Given the description of an element on the screen output the (x, y) to click on. 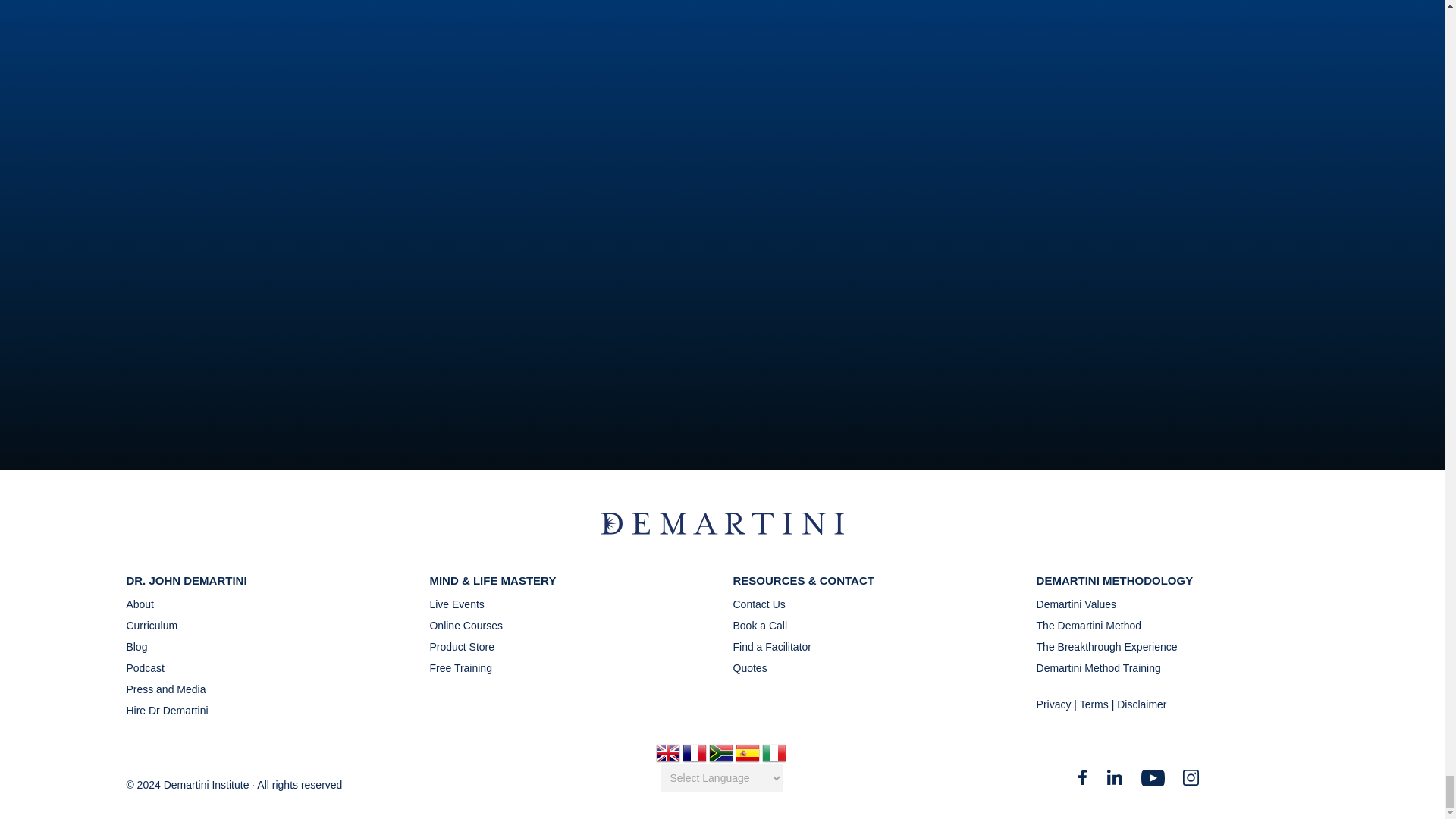
English (669, 755)
Follow us on Facebook (1081, 780)
Product Store (465, 646)
Curriculum (166, 625)
Spanish (748, 755)
Blog (166, 646)
DR. JOHN DEMARTINI (185, 580)
Italian (775, 755)
Book a Call (771, 625)
Afrikaans (722, 755)
Free Training (465, 665)
Live Events (465, 606)
Demartini Home (721, 530)
Follow us on Instagram (1190, 780)
Podcast (166, 667)
